Given the description of an element on the screen output the (x, y) to click on. 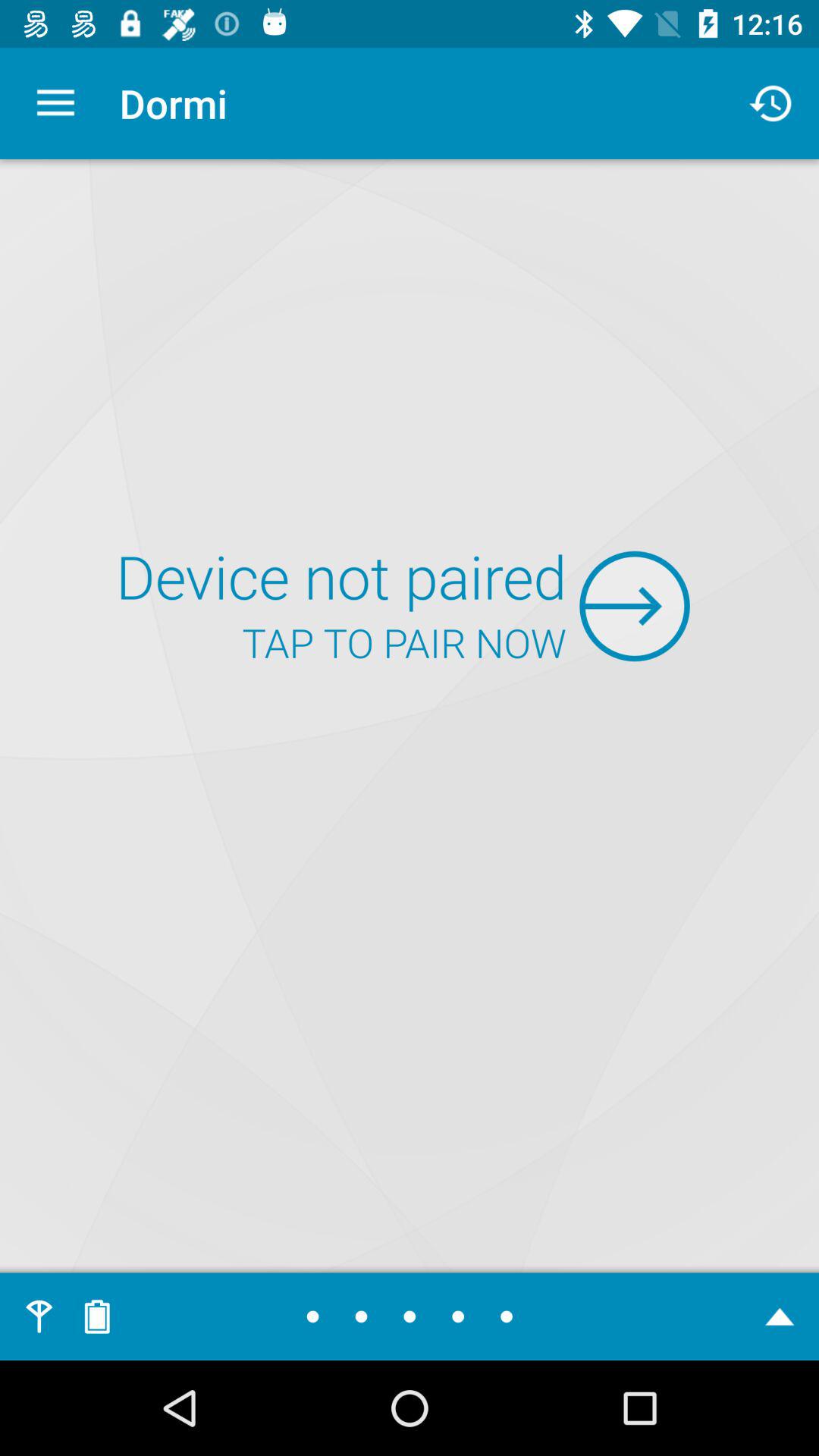
launch icon to the left of the dormi item (55, 103)
